Given the description of an element on the screen output the (x, y) to click on. 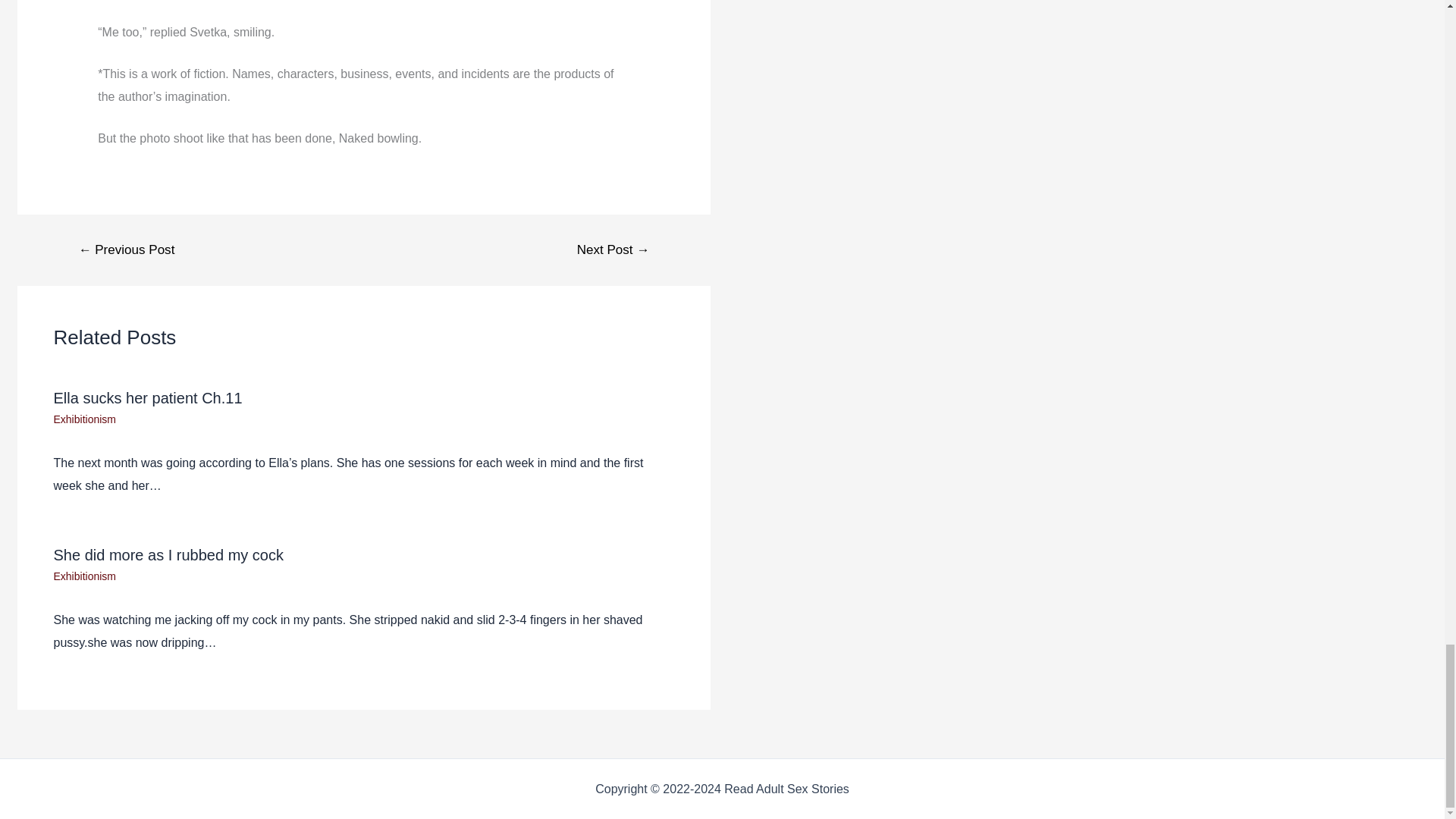
Ella sucks her patient Ch.11 (146, 397)
She did more as I rubbed my cock (167, 555)
Exhibitionism (83, 419)
Exhibitionism (83, 576)
